Given the description of an element on the screen output the (x, y) to click on. 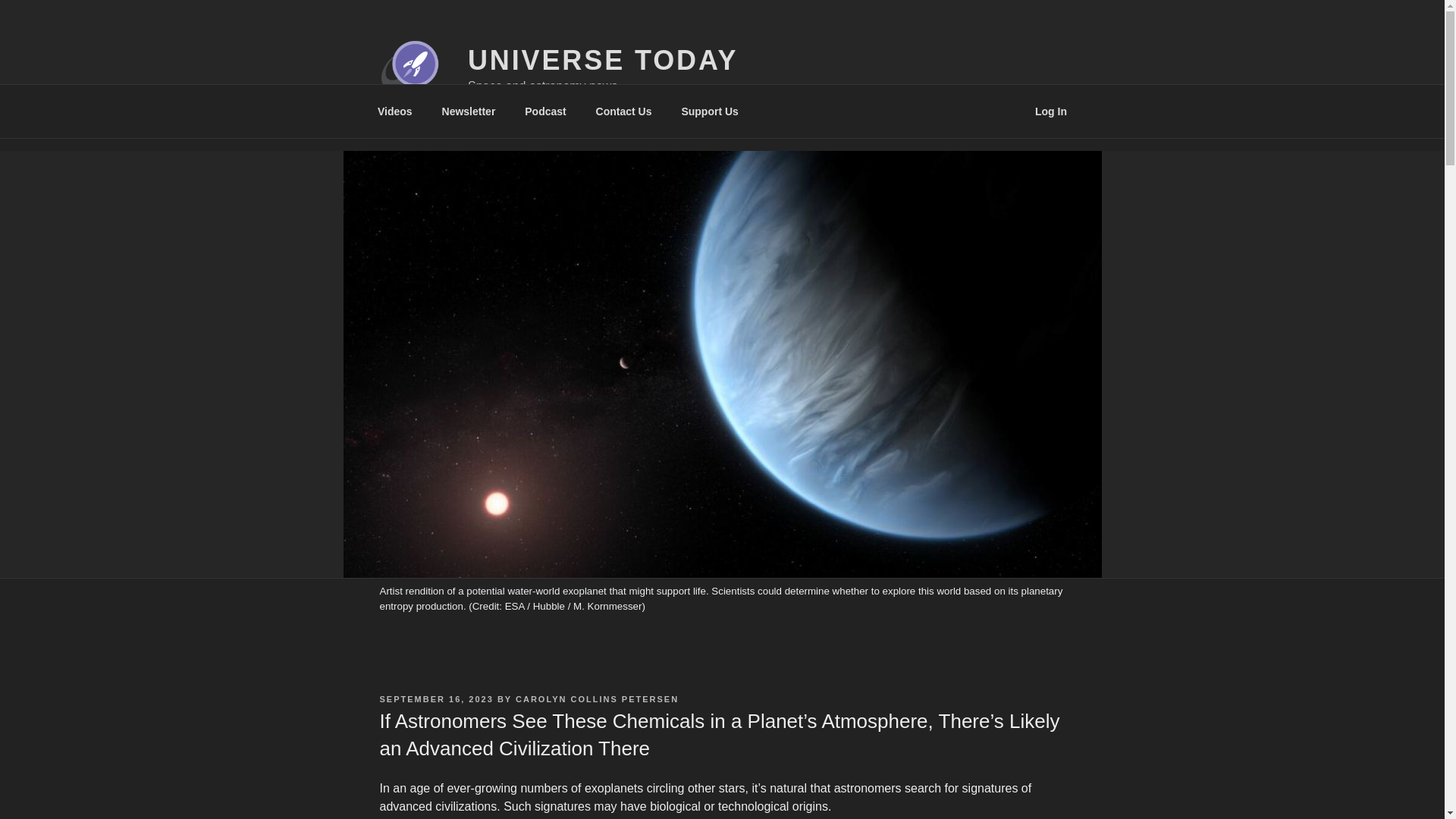
Contact Us (623, 110)
Log In (1051, 110)
Videos (394, 110)
SEPTEMBER 16, 2023 (435, 698)
UNIVERSE TODAY (602, 60)
Newsletter (468, 110)
Support Us (709, 110)
Podcast (545, 110)
CAROLYN COLLINS PETERSEN (596, 698)
